Given the description of an element on the screen output the (x, y) to click on. 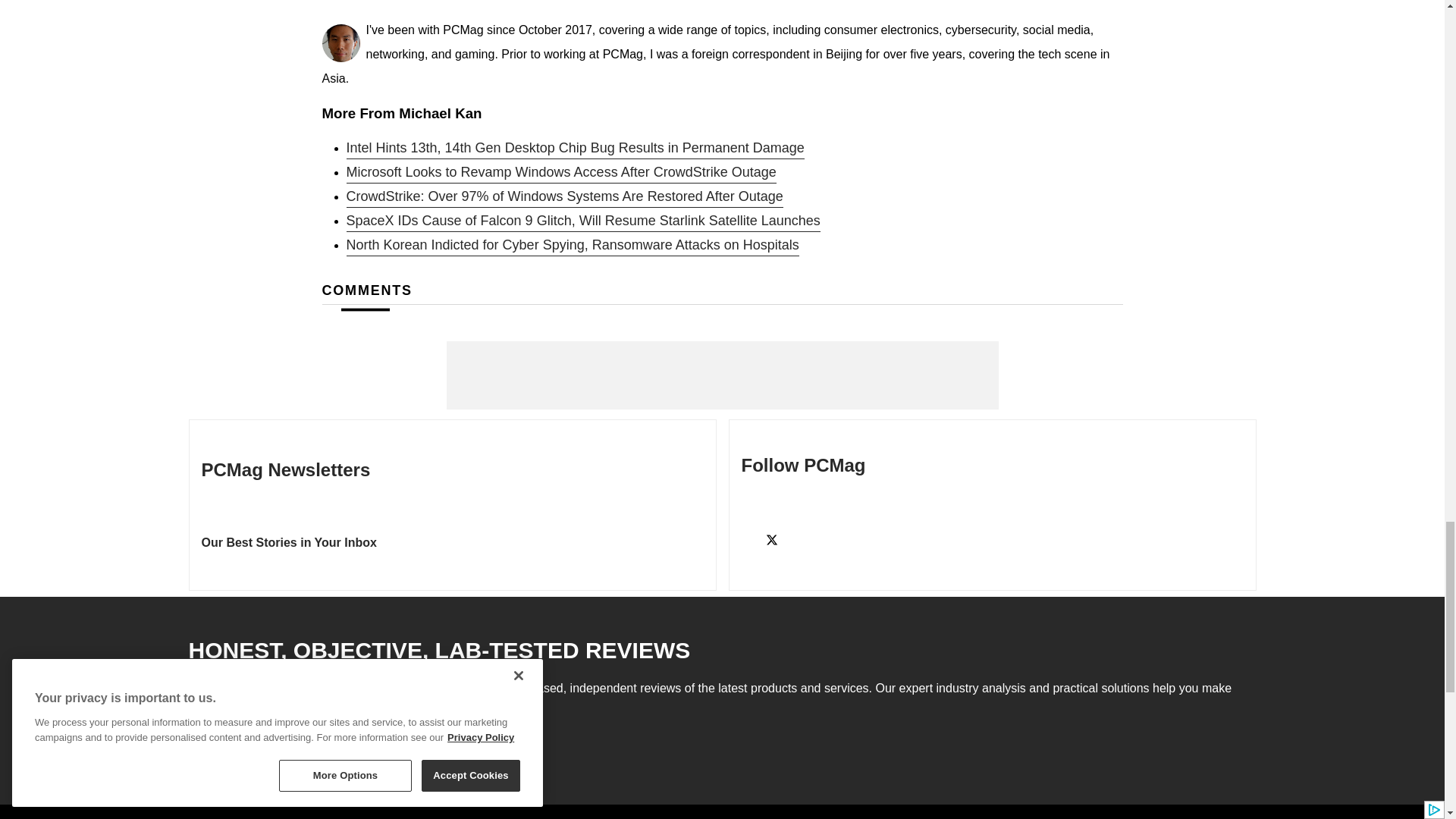
3rd party ad content (721, 375)
